Given the description of an element on the screen output the (x, y) to click on. 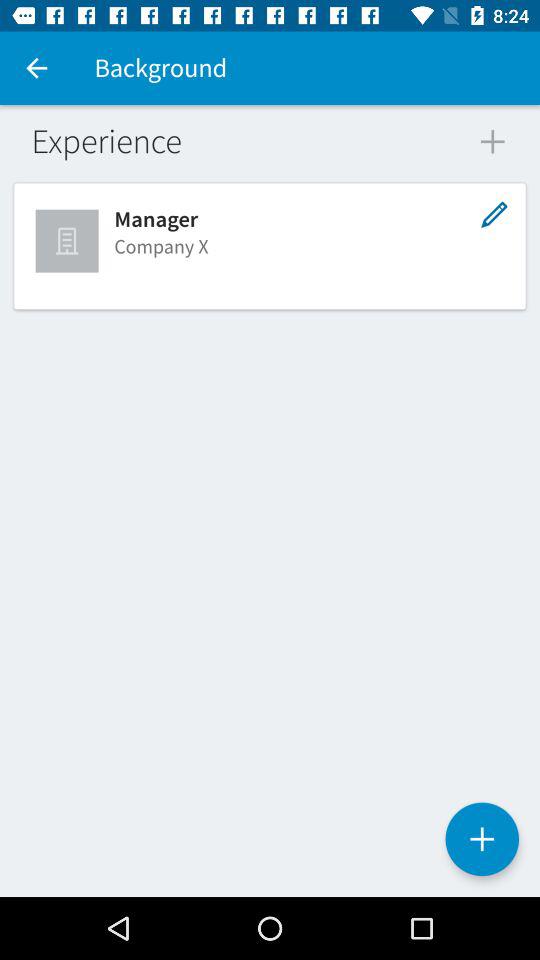
choose icon to the left of manager icon (69, 240)
